Given the description of an element on the screen output the (x, y) to click on. 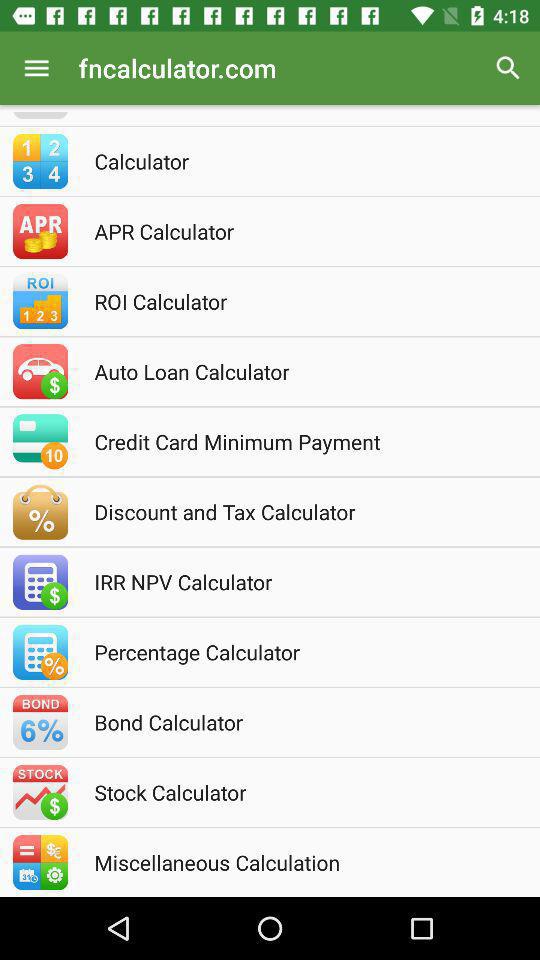
turn off discount and tax item (297, 511)
